Given the description of an element on the screen output the (x, y) to click on. 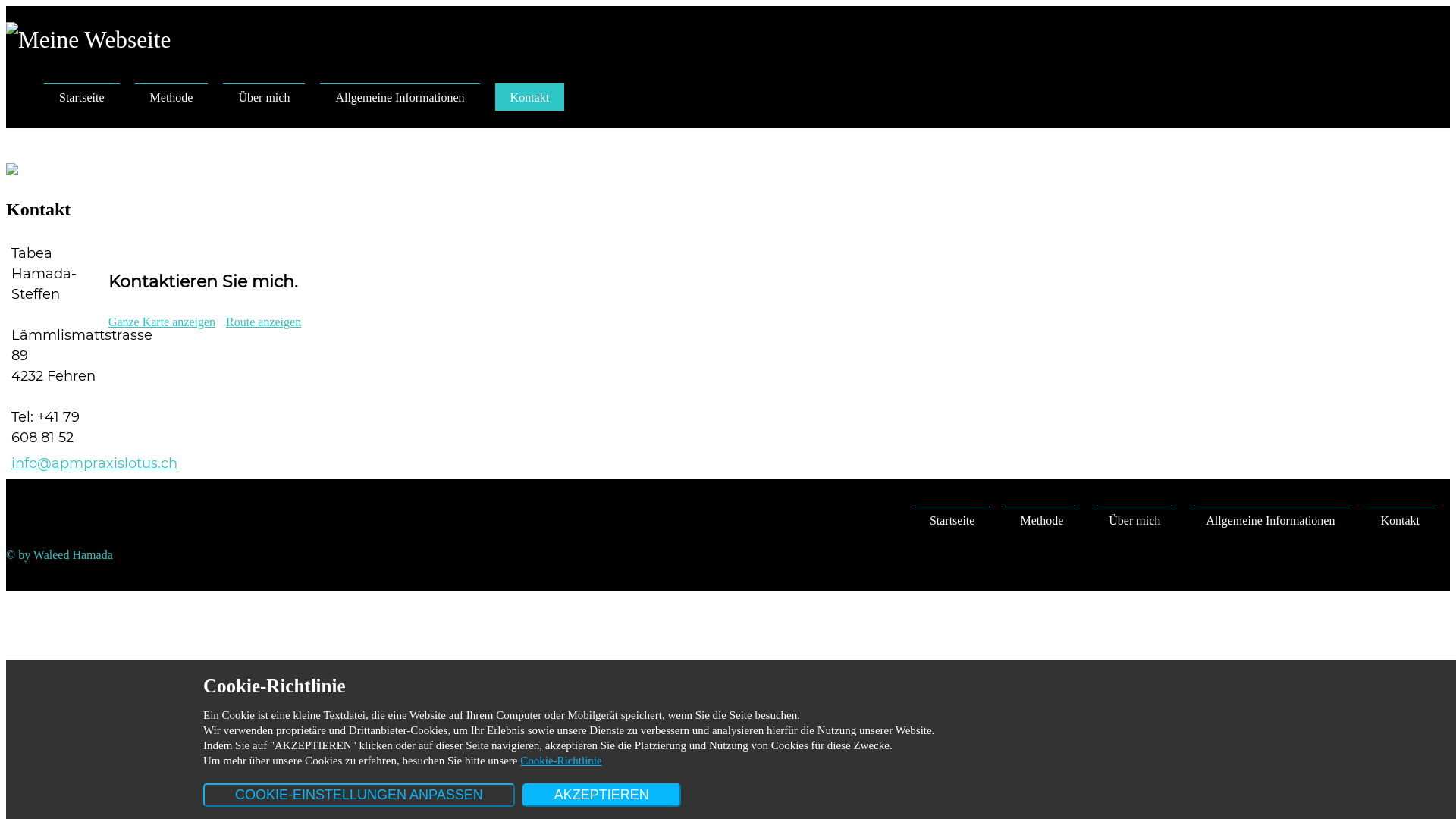
COOKIE-EINSTELLUNGEN ANPASSEN Element type: text (358, 794)
Methode Element type: text (1041, 519)
Methode Element type: text (171, 96)
Allgemeine Informationen Element type: text (1269, 519)
AKZEPTIEREN Element type: text (601, 794)
Route anzeigen Element type: text (263, 321)
info@apmpraxislotus.ch Element type: text (94, 463)
Ganze Karte anzeigen Element type: text (161, 321)
Kontakt Element type: text (1399, 519)
Startseite Element type: text (952, 519)
Kontakt Element type: text (529, 96)
Startseite Element type: text (81, 96)
Allgemeine Informationen Element type: text (399, 96)
Cookie-Richtlinie Element type: text (560, 760)
